Given the description of an element on the screen output the (x, y) to click on. 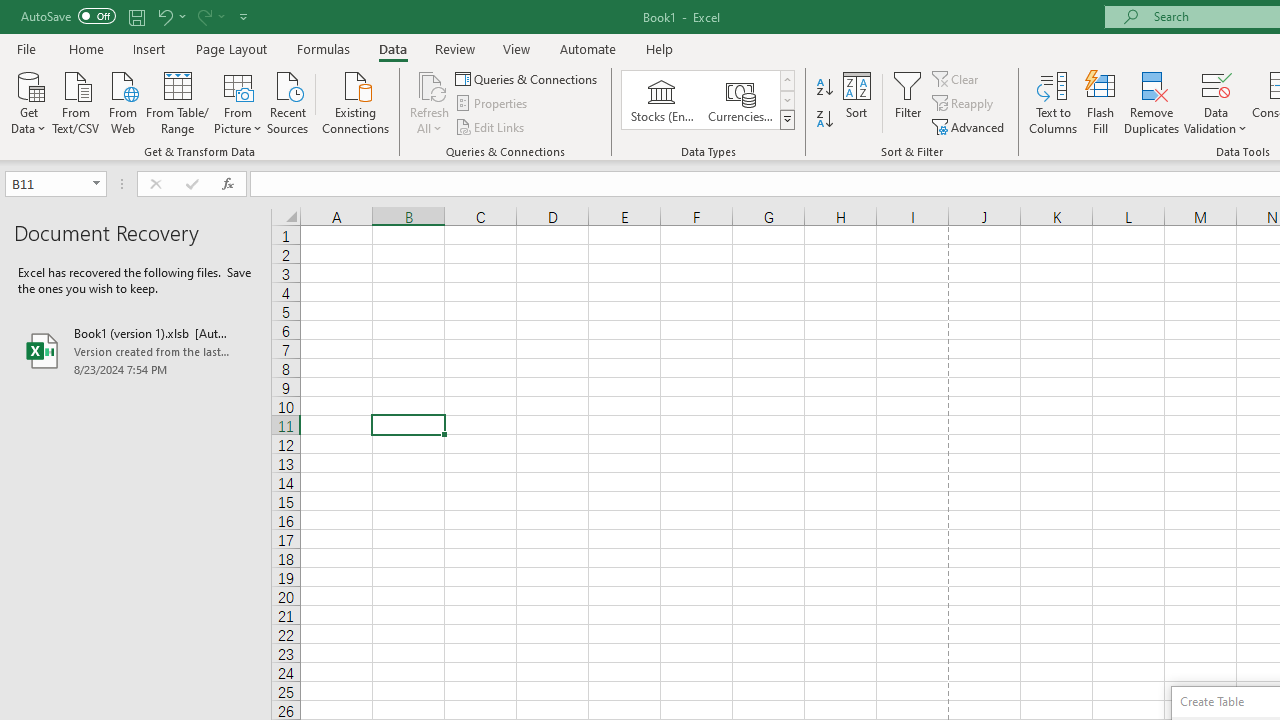
Sort A to Z (824, 87)
Text to Columns... (1053, 102)
From Text/CSV (75, 101)
Advanced... (970, 126)
Reapply (964, 103)
Queries & Connections (527, 78)
Sort... (856, 102)
Row Down (786, 100)
Recent Sources (287, 101)
